Given the description of an element on the screen output the (x, y) to click on. 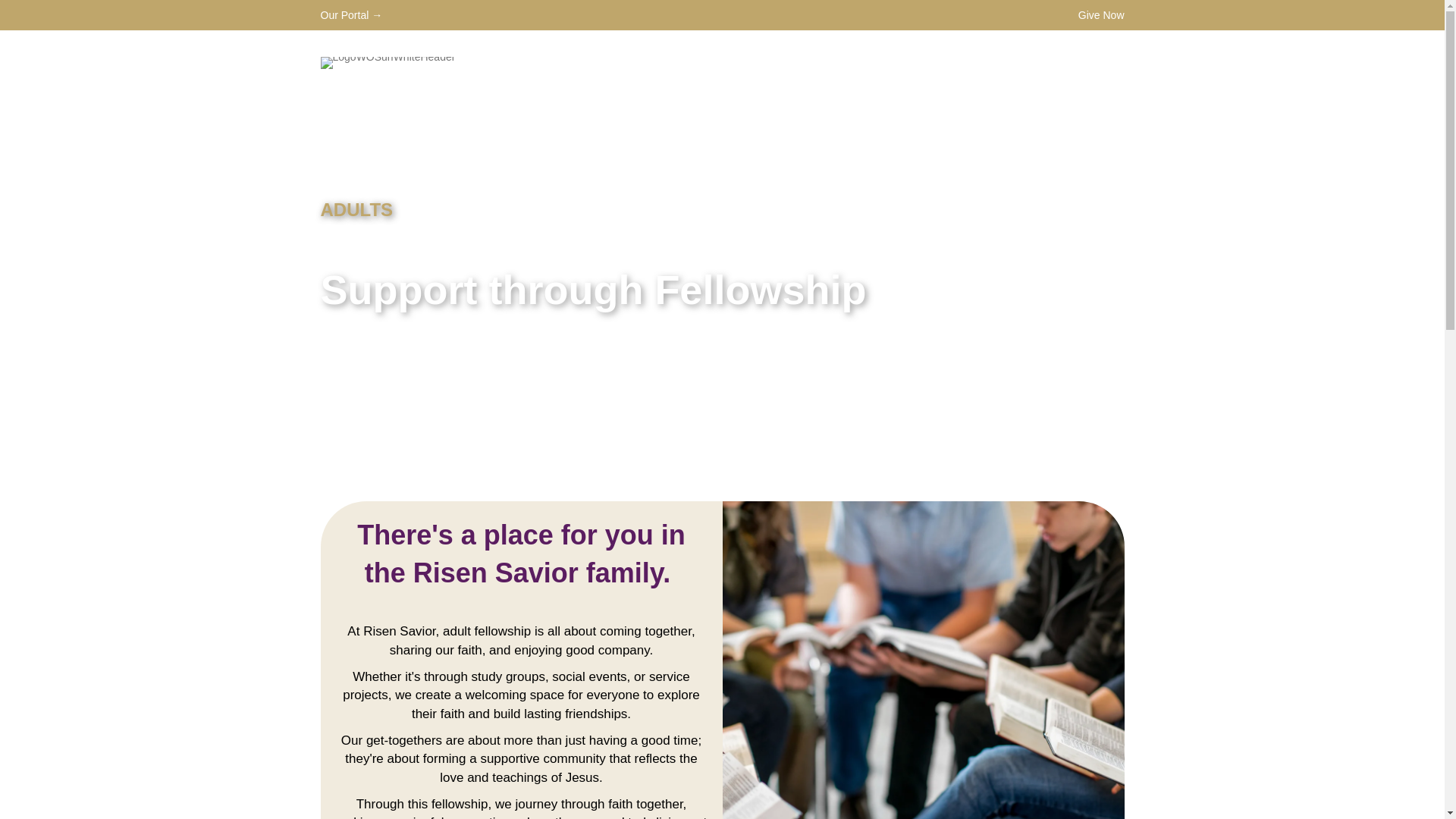
GroupsandClasses (923, 660)
WORSHIP (817, 62)
CONNECT (913, 62)
ABOUT (1000, 62)
LogoWOSunWhiteHeader (387, 62)
HOME (638, 62)
START HERE (719, 62)
Give Now (1101, 15)
CONTACT (1082, 62)
